Given the description of an element on the screen output the (x, y) to click on. 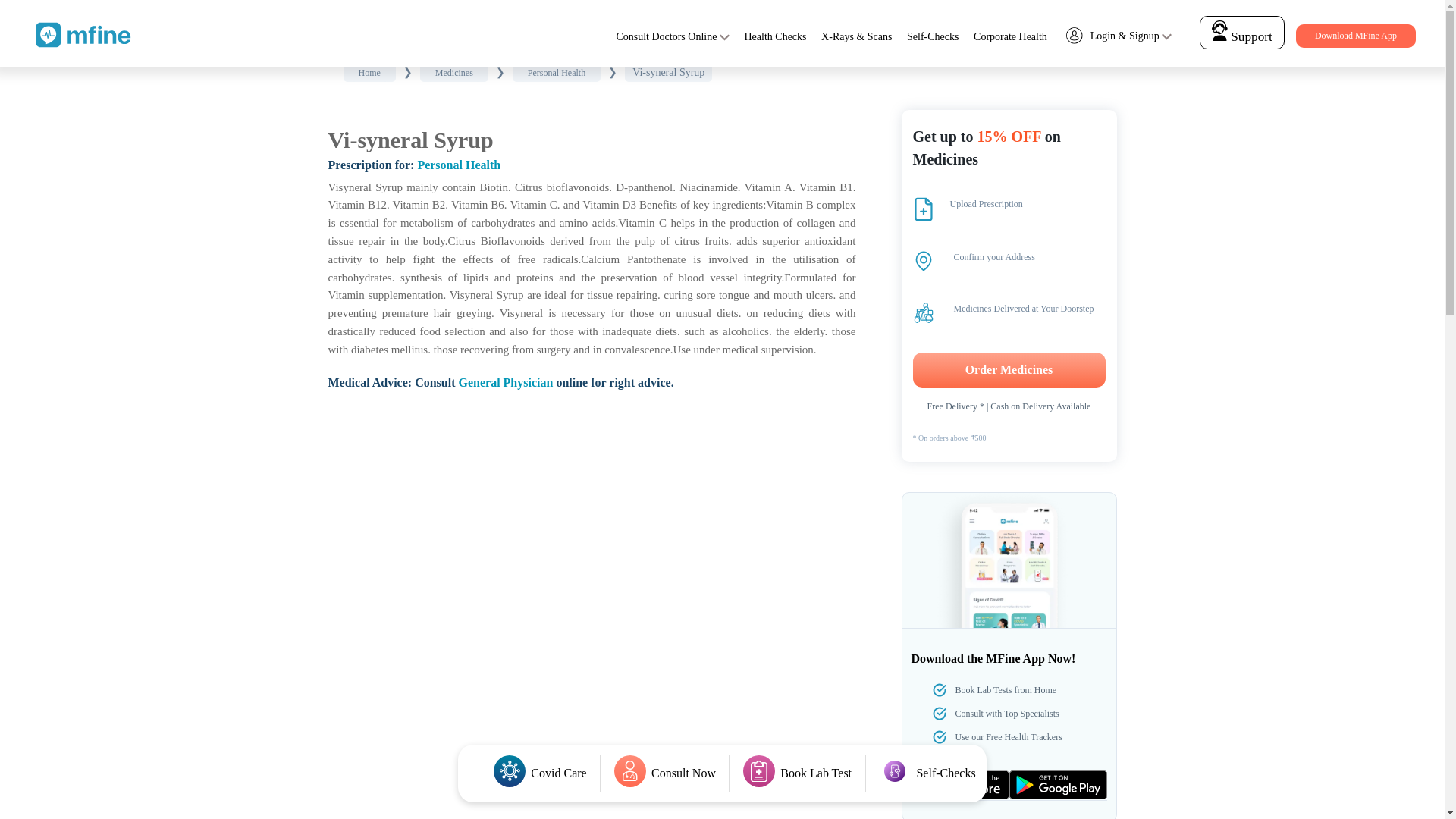
Download MFine App (1355, 35)
Consult Doctors Online (665, 36)
Support (1241, 32)
Support (1241, 36)
Corporate Health (1010, 36)
Health Checks (775, 36)
Self-Checks (932, 36)
